Given the description of an element on the screen output the (x, y) to click on. 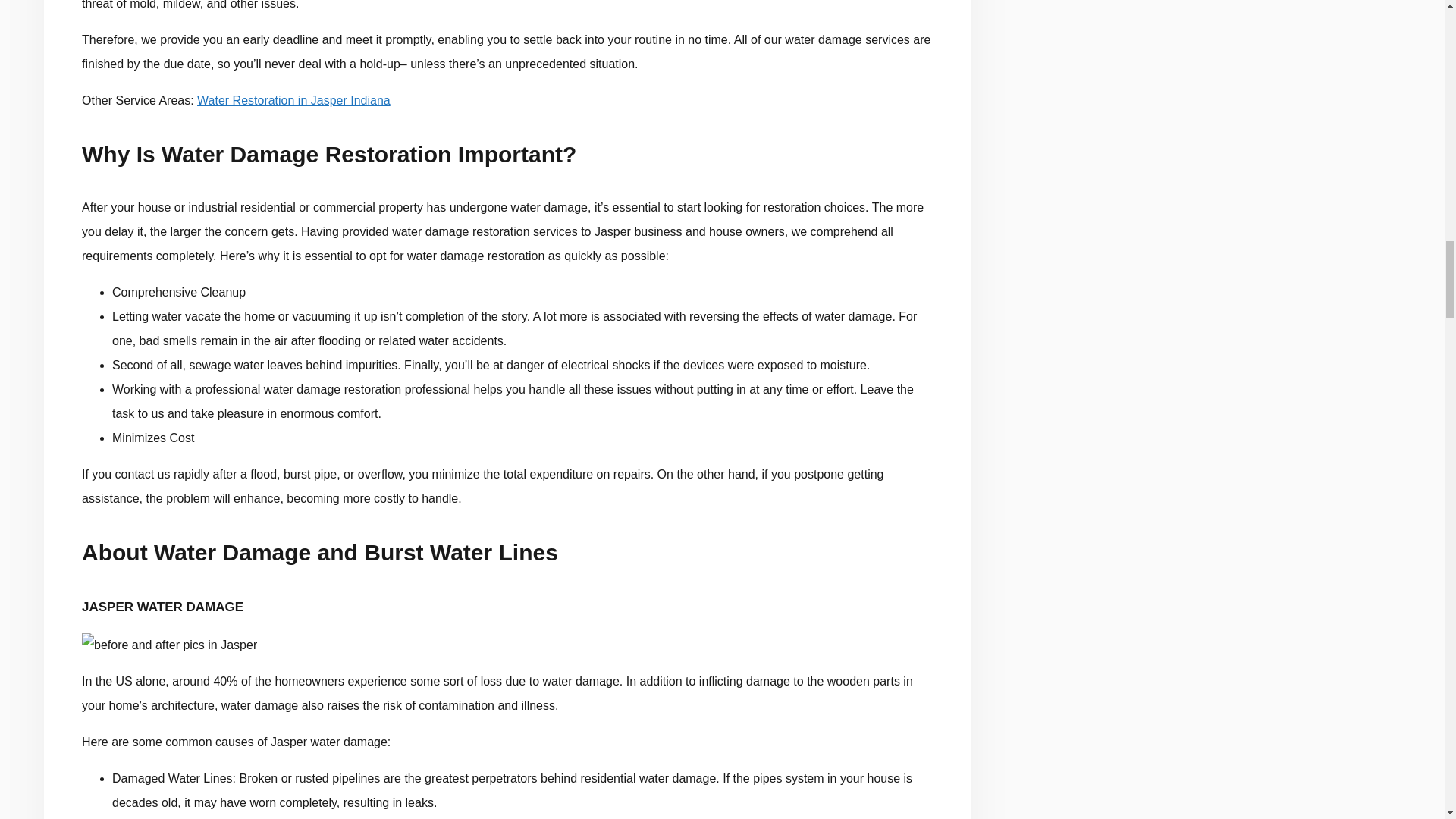
Water Restoration in Jasper Indiana (293, 100)
